Given the description of an element on the screen output the (x, y) to click on. 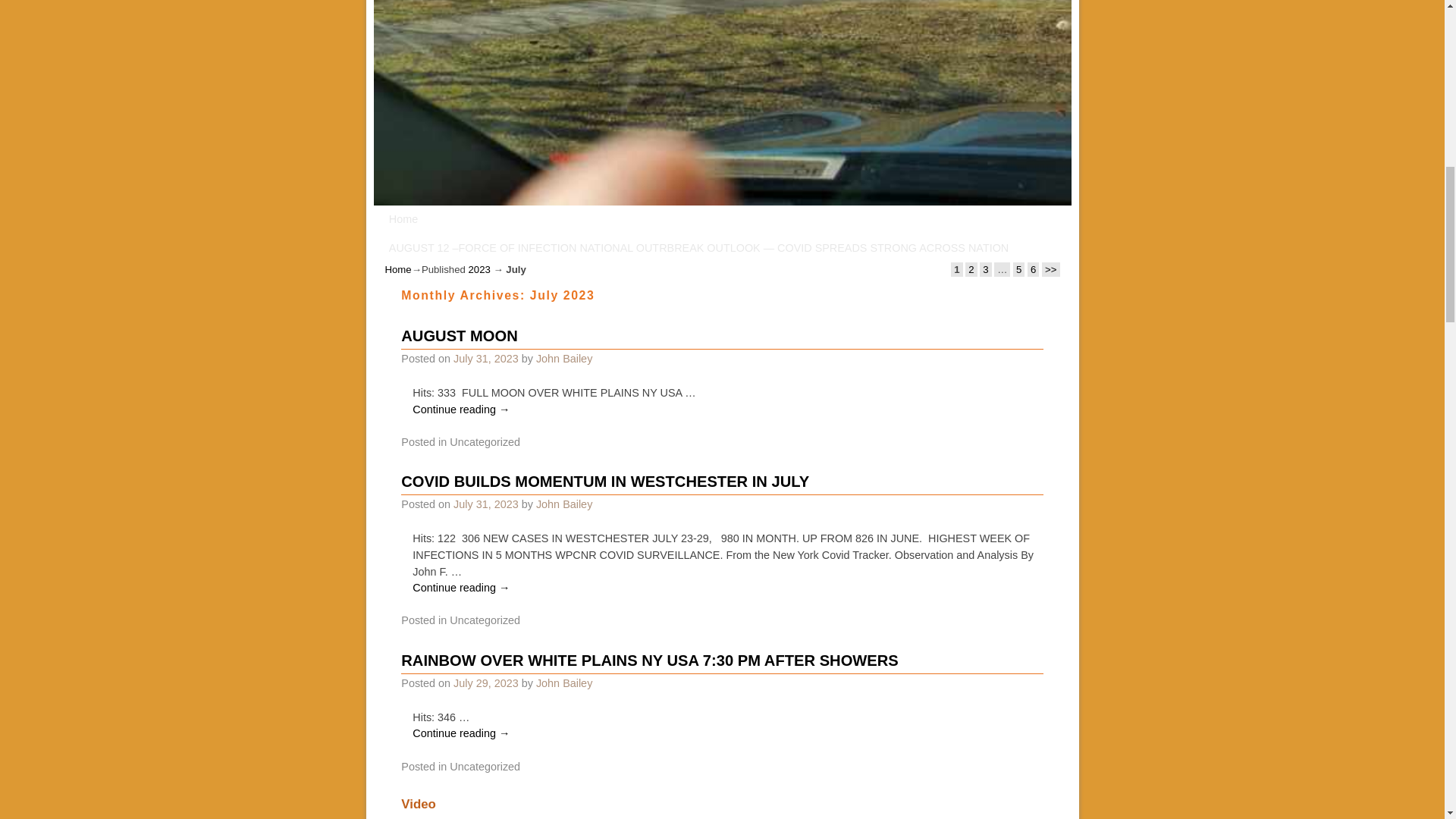
John Bailey (563, 503)
Permalink to COVID BUILDS MOMENTUM IN WESTCHESTER IN JULY (605, 481)
Home (398, 269)
Skip to primary content (453, 218)
July 31, 2023 (485, 503)
View all posts by John Bailey (563, 358)
John Bailey (563, 358)
July 29, 2023 (485, 683)
Skip to secondary content (460, 218)
Permalink to AUGUST MOON (458, 335)
